Given the description of an element on the screen output the (x, y) to click on. 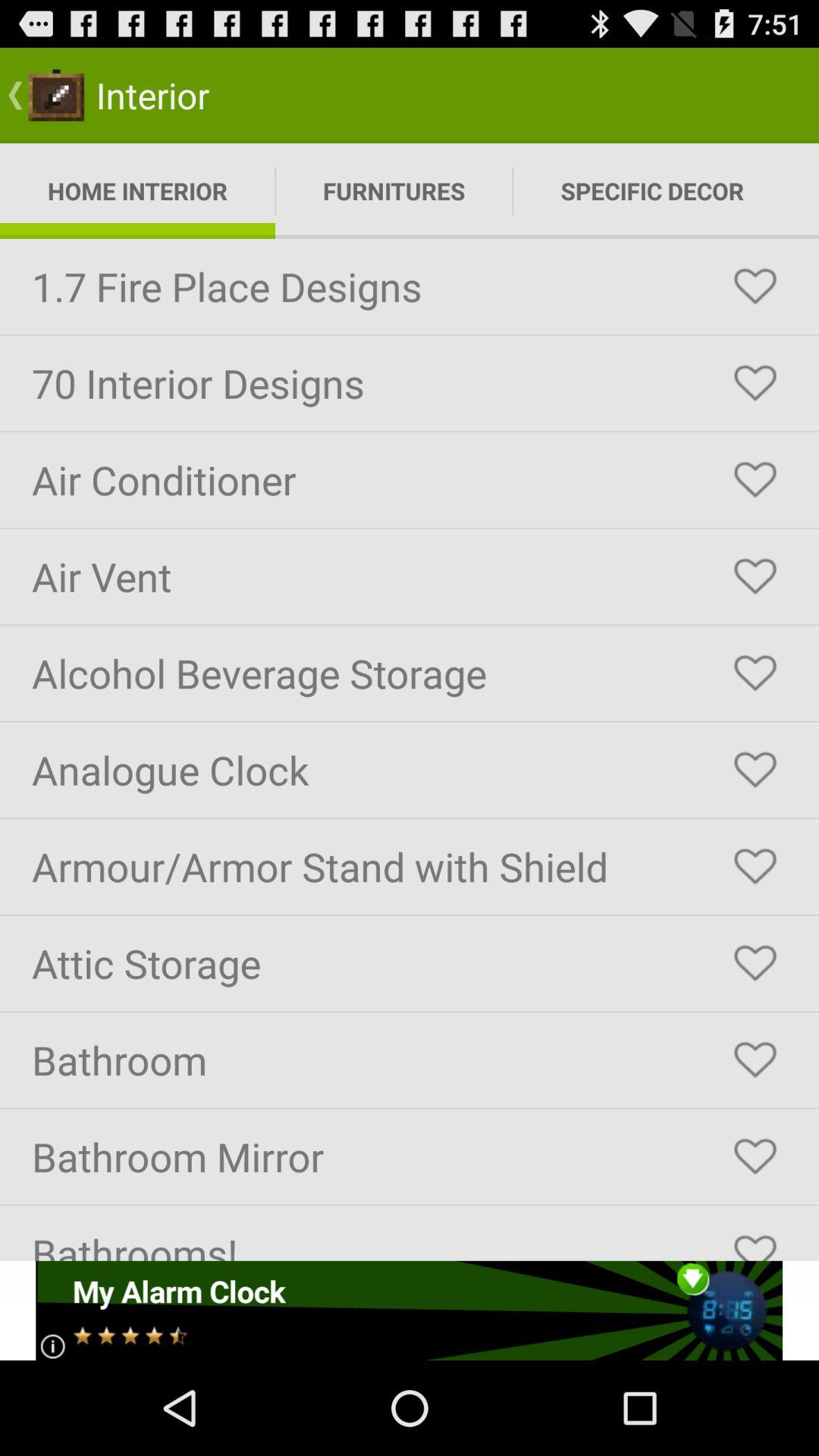
my alaram clock (408, 1310)
